Given the description of an element on the screen output the (x, y) to click on. 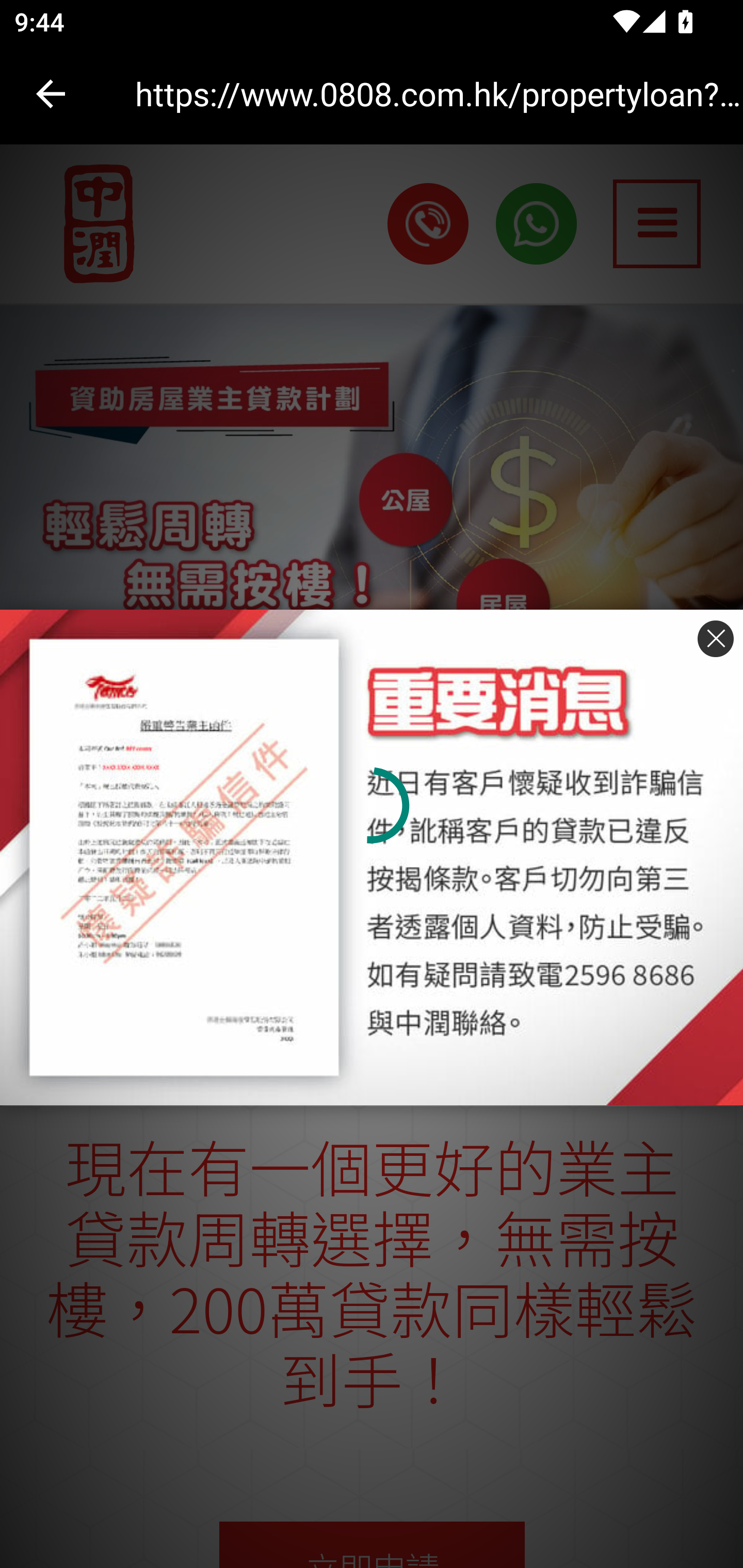
Navigate up (50, 93)
 (711, 640)
